Given the description of an element on the screen output the (x, y) to click on. 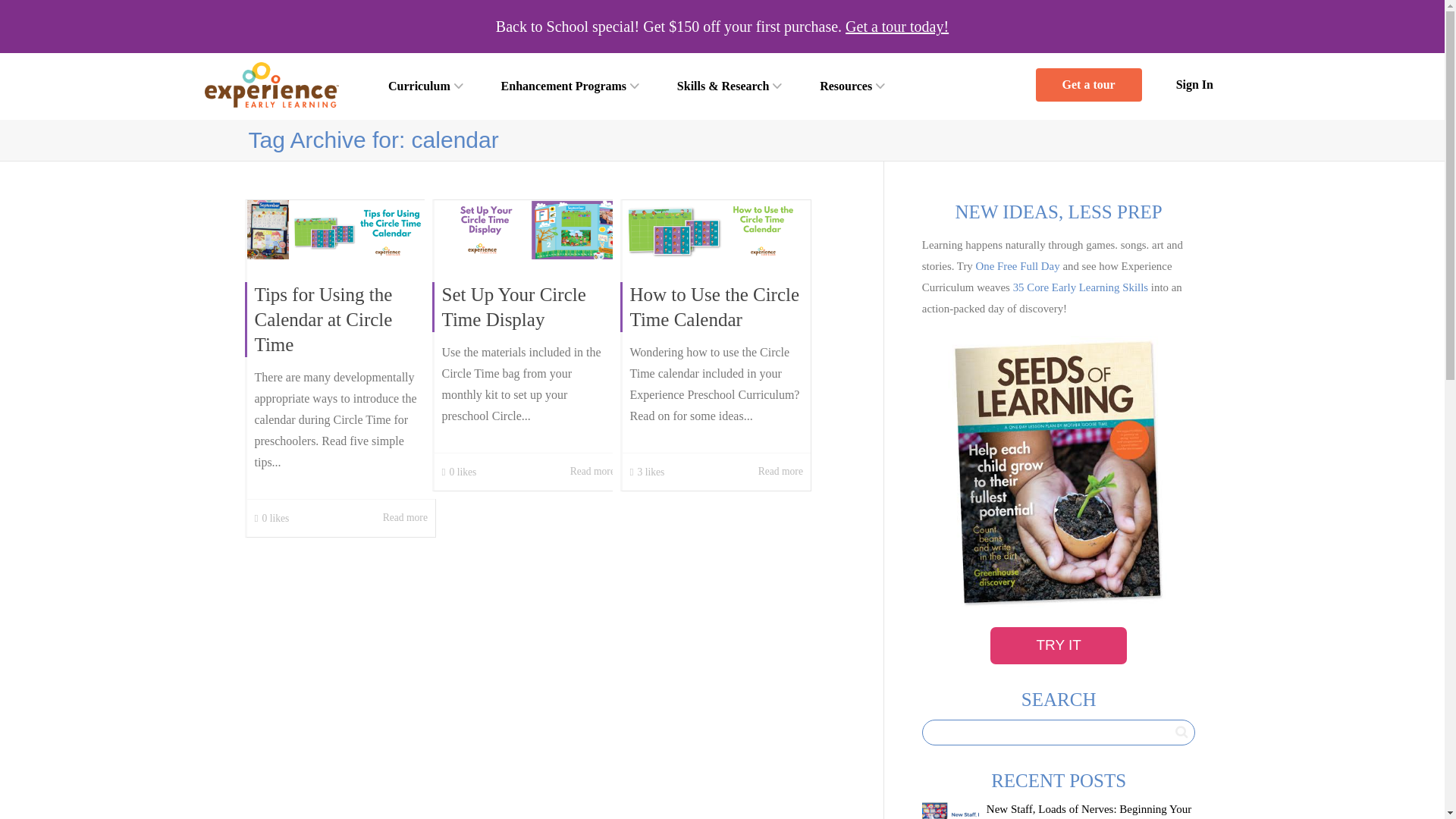
Get a tour (1088, 84)
0 likes (271, 518)
Like this (271, 518)
Like this (458, 471)
Enhancement Programs (570, 85)
Sign In (1194, 84)
Like this (645, 471)
Search (1181, 731)
Tips for Using the Calendar at Circle Time (323, 319)
